Given the description of an element on the screen output the (x, y) to click on. 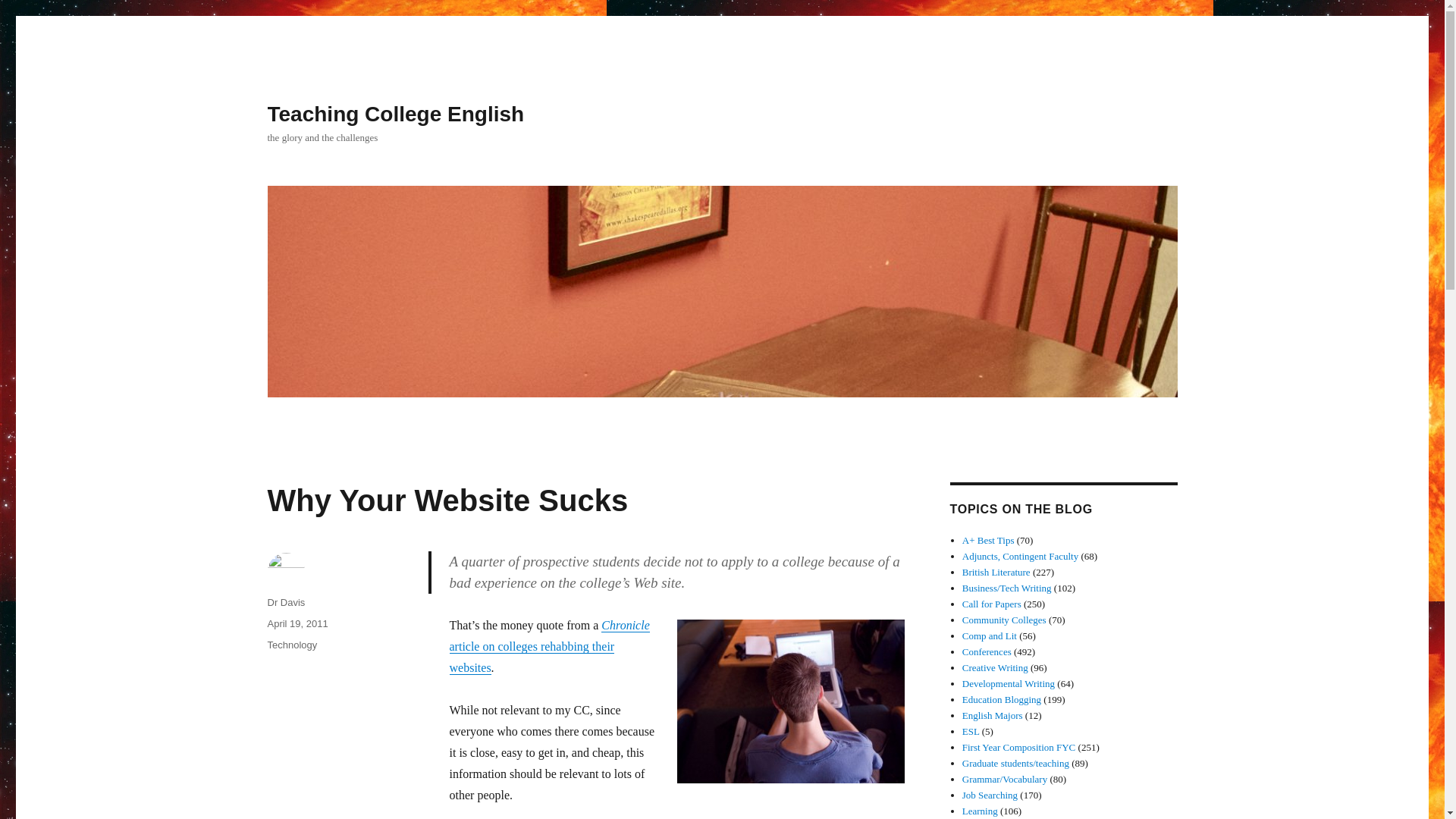
Learning (979, 810)
Education Blogging (1001, 699)
Call for Papers (992, 603)
First Year Composition FYC (1018, 747)
Dr Davis (285, 602)
Adjuncts, Contingent Faculty (1020, 555)
Teaching College English (395, 114)
Chronicle article on colleges rehabbing their websites (548, 646)
Comp and Lit (989, 635)
British Literature (996, 572)
Job Searching (989, 794)
Developmental Writing (1008, 683)
ESL (970, 731)
English Majors (992, 715)
April 19, 2011 (296, 623)
